Given the description of an element on the screen output the (x, y) to click on. 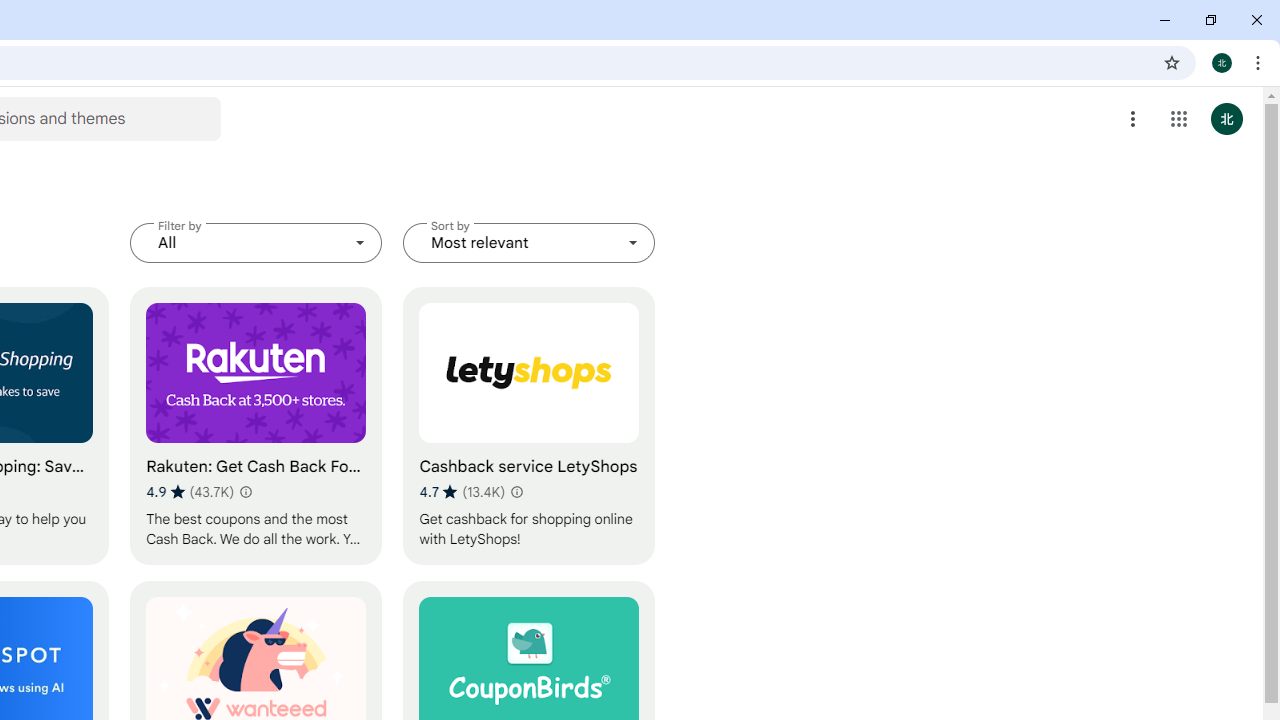
More options menu (1133, 118)
Average rating 4.7 out of 5 stars. 13.4K ratings. (461, 491)
Sort by Most relevant (529, 242)
Rakuten: Get Cash Back For Shopping (256, 426)
Cashback service LetyShops (529, 426)
